Given the description of an element on the screen output the (x, y) to click on. 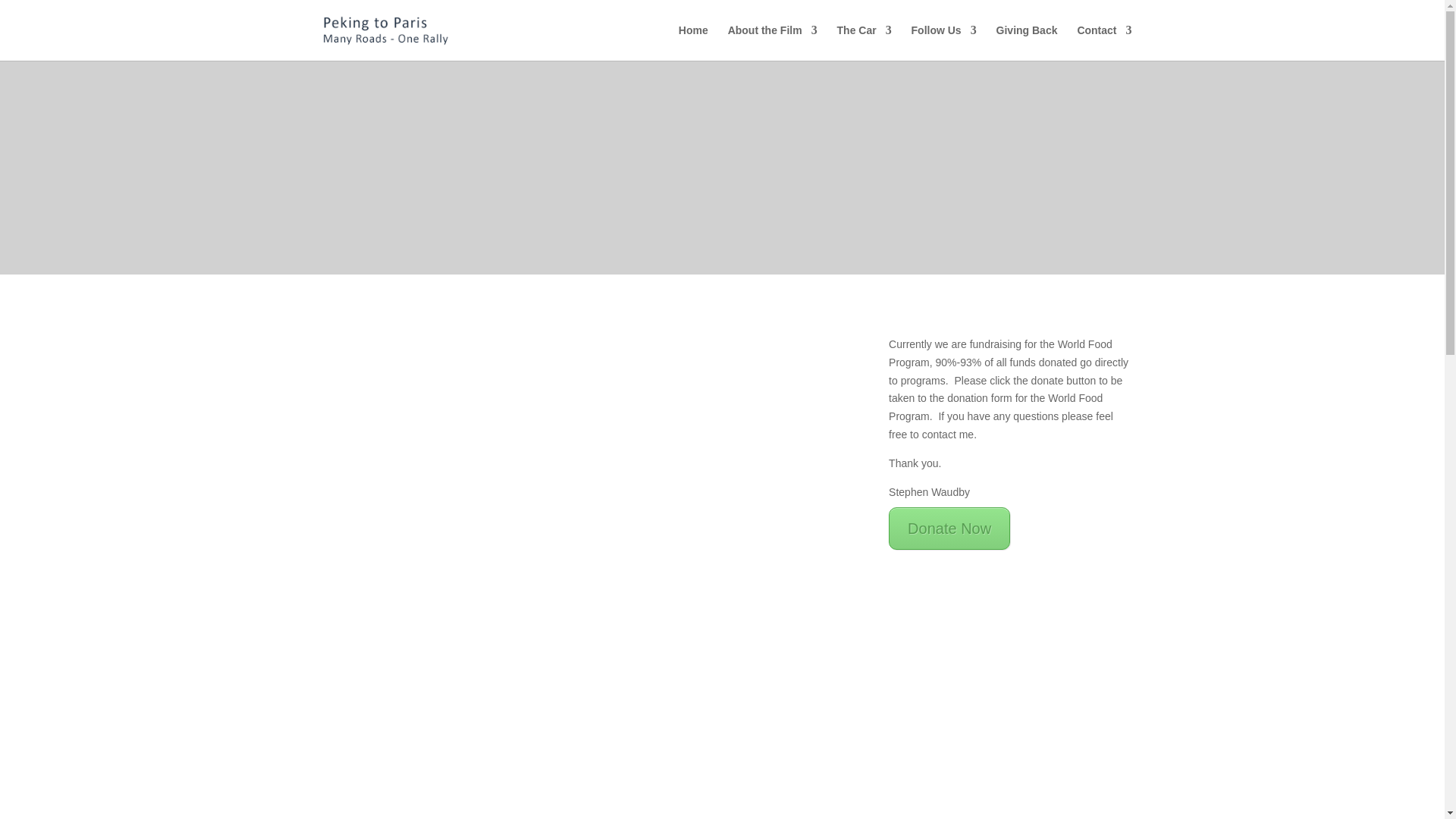
Giving Back (1026, 42)
The Car (864, 42)
Contact (1104, 42)
About the Film (772, 42)
Donate Now (949, 527)
Follow Us (943, 42)
